Given the description of an element on the screen output the (x, y) to click on. 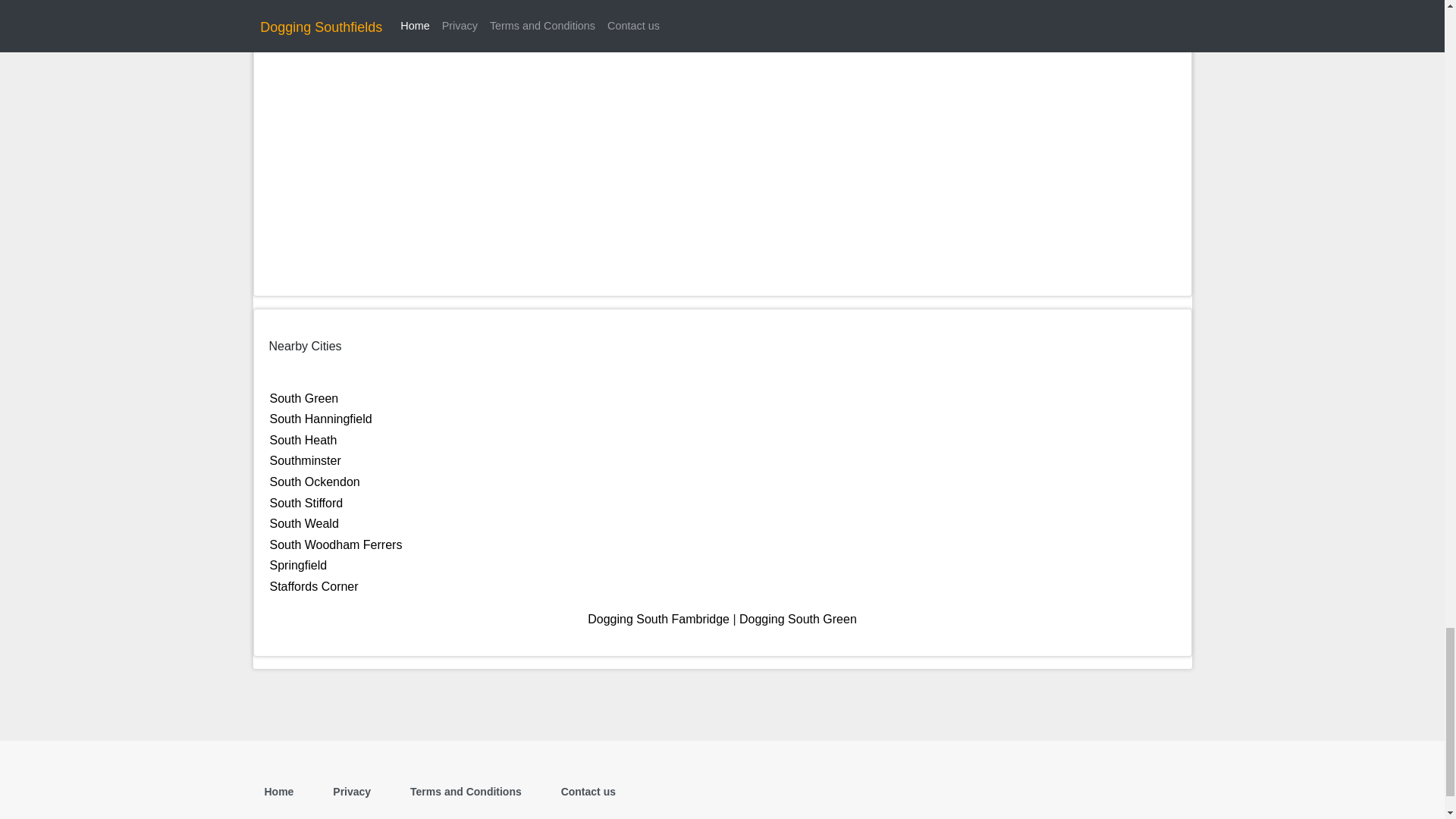
Springfield (298, 564)
South Woodham Ferrers (336, 544)
South Weald (304, 522)
Dogging South Fambridge (658, 618)
South Stifford (306, 502)
Southminster (304, 460)
South Hanningfield (320, 418)
South Heath (303, 440)
Staffords Corner (313, 585)
Dogging South Green (798, 618)
South Green (304, 398)
South Ockendon (314, 481)
